Given the description of an element on the screen output the (x, y) to click on. 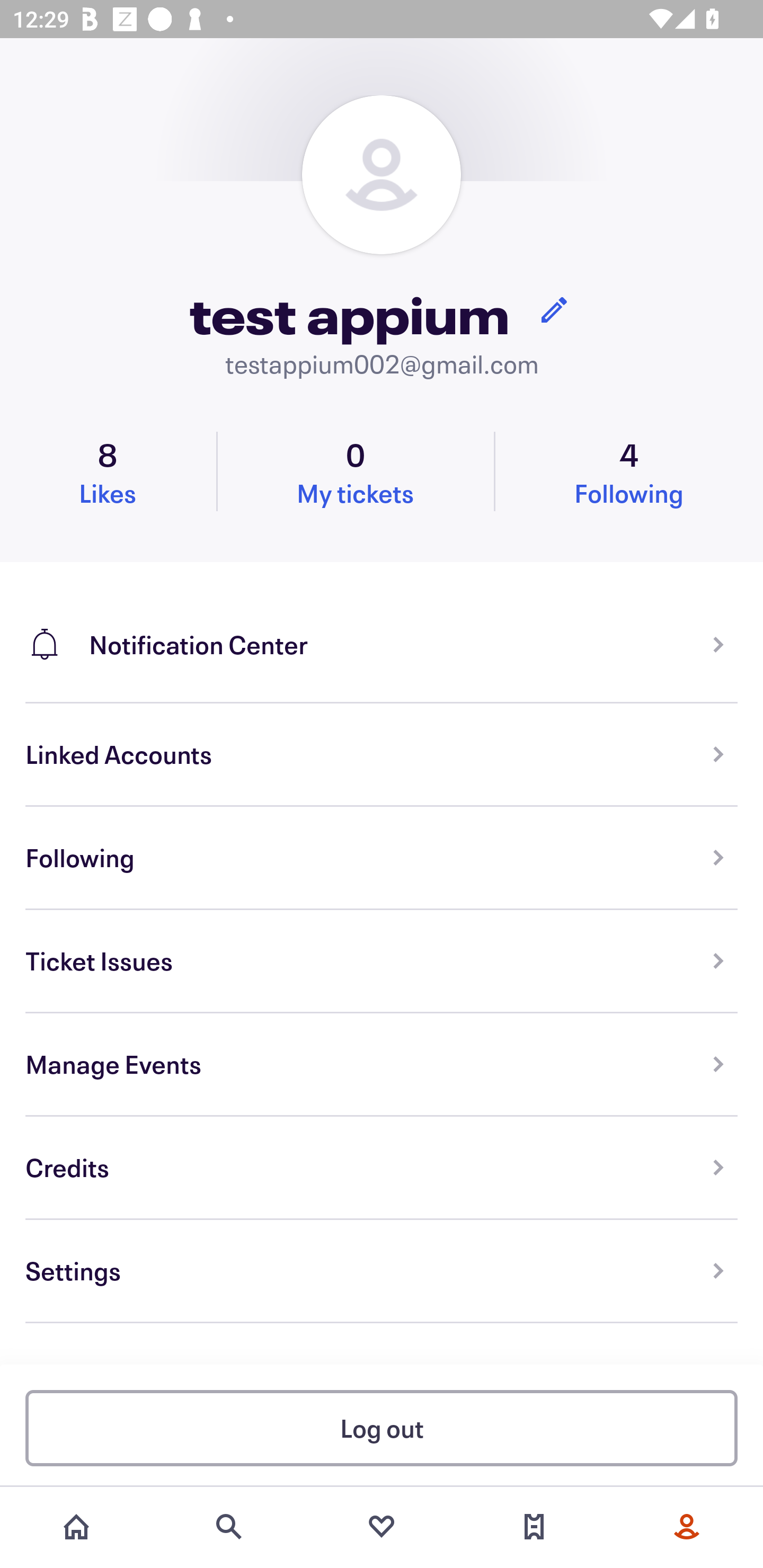
test appium testappium002@gmail.com (381, 238)
8 Likes (107, 470)
0 My tickets (355, 470)
4 Following (629, 470)
Notification Center (381, 632)
Linked Accounts (381, 755)
Following (381, 858)
Ticket Issues (381, 960)
Manage Events (381, 1064)
Credits (381, 1167)
Settings (381, 1271)
Log out (381, 1427)
Home (76, 1526)
Search events (228, 1526)
Favorites (381, 1526)
Tickets (533, 1526)
More (686, 1526)
